Given the description of an element on the screen output the (x, y) to click on. 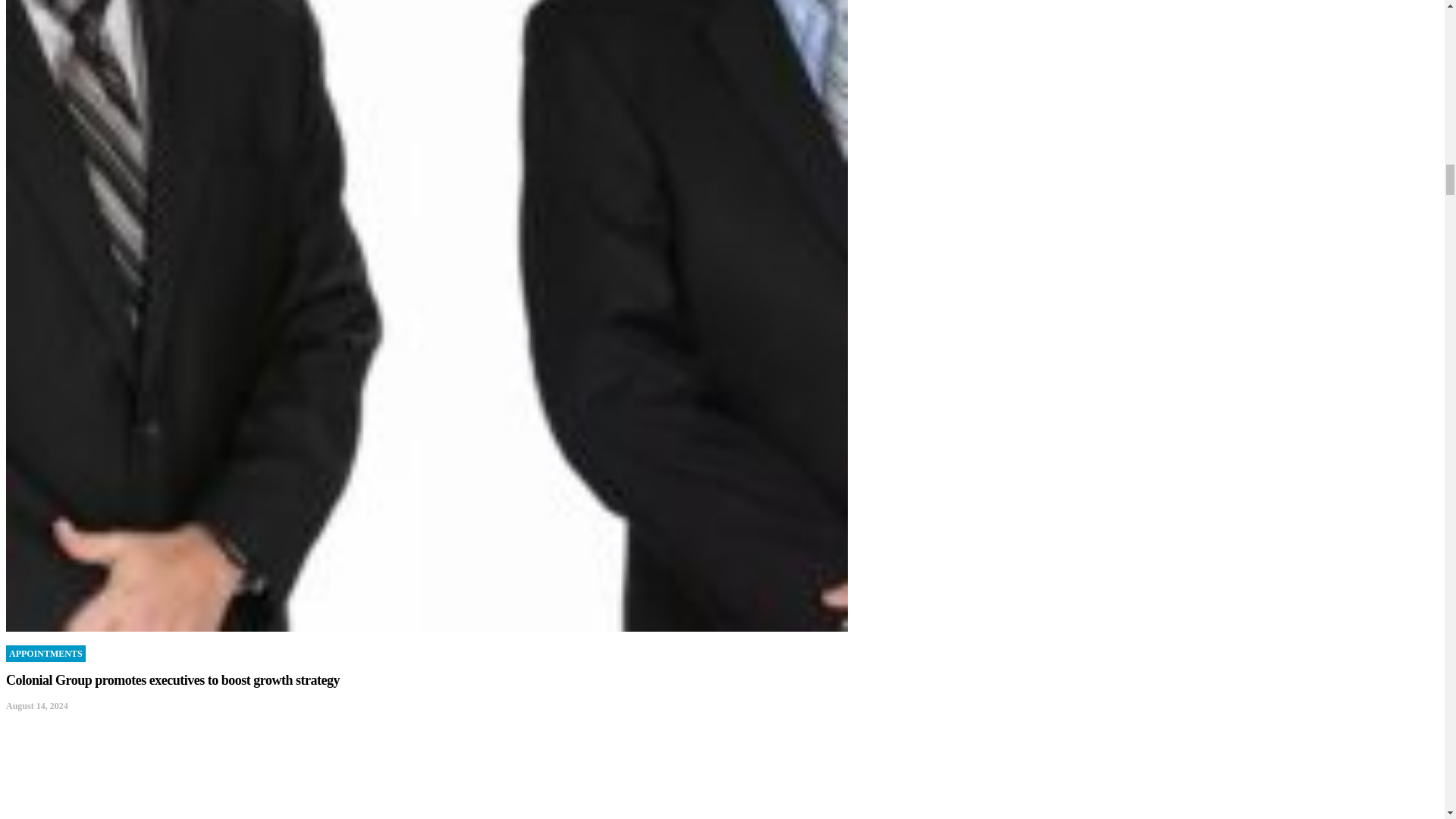
APPOINTMENTS (45, 653)
Colonial Group promotes executives to boost growth strategy (172, 679)
August 14, 2024 (36, 706)
